Given the description of an element on the screen output the (x, y) to click on. 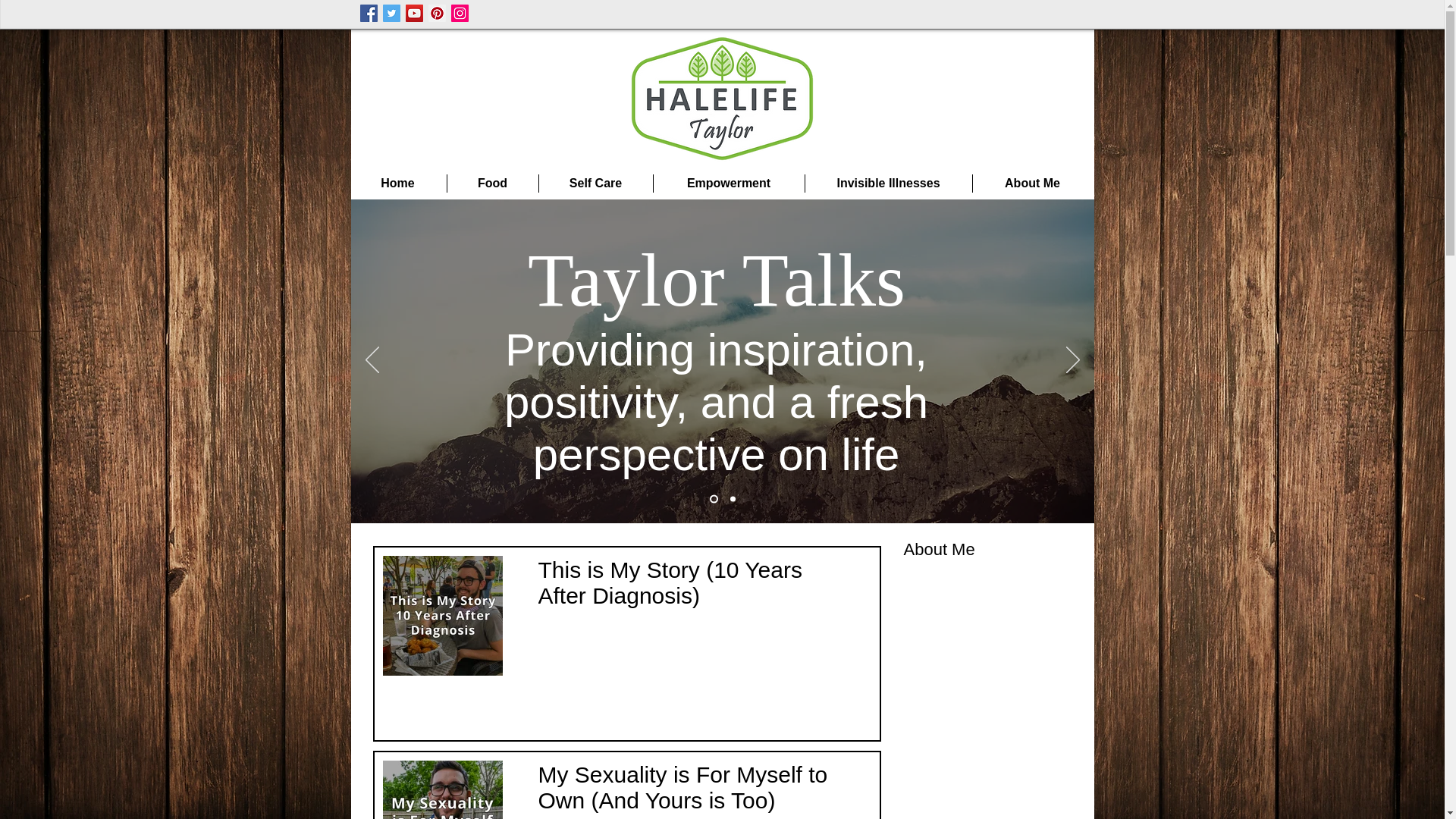
Home (397, 183)
Empowerment (729, 183)
Facebook Like (831, 13)
Embedded Content (576, 443)
Self Care (595, 183)
Invisible Illnesses (888, 183)
Twitter Tweet (908, 13)
Food (492, 183)
